Given the description of an element on the screen output the (x, y) to click on. 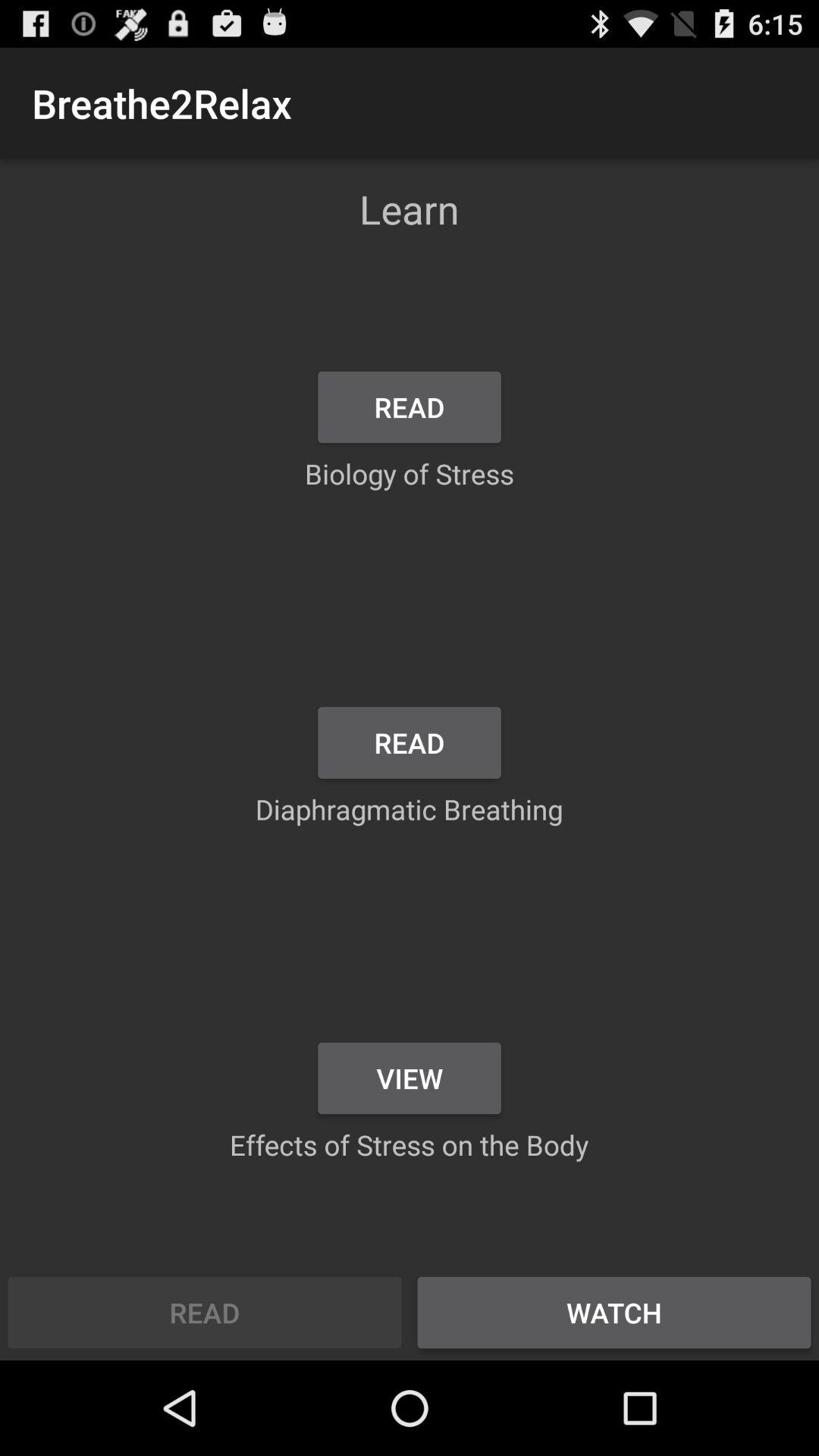
open the icon below effects of stress app (614, 1312)
